Given the description of an element on the screen output the (x, y) to click on. 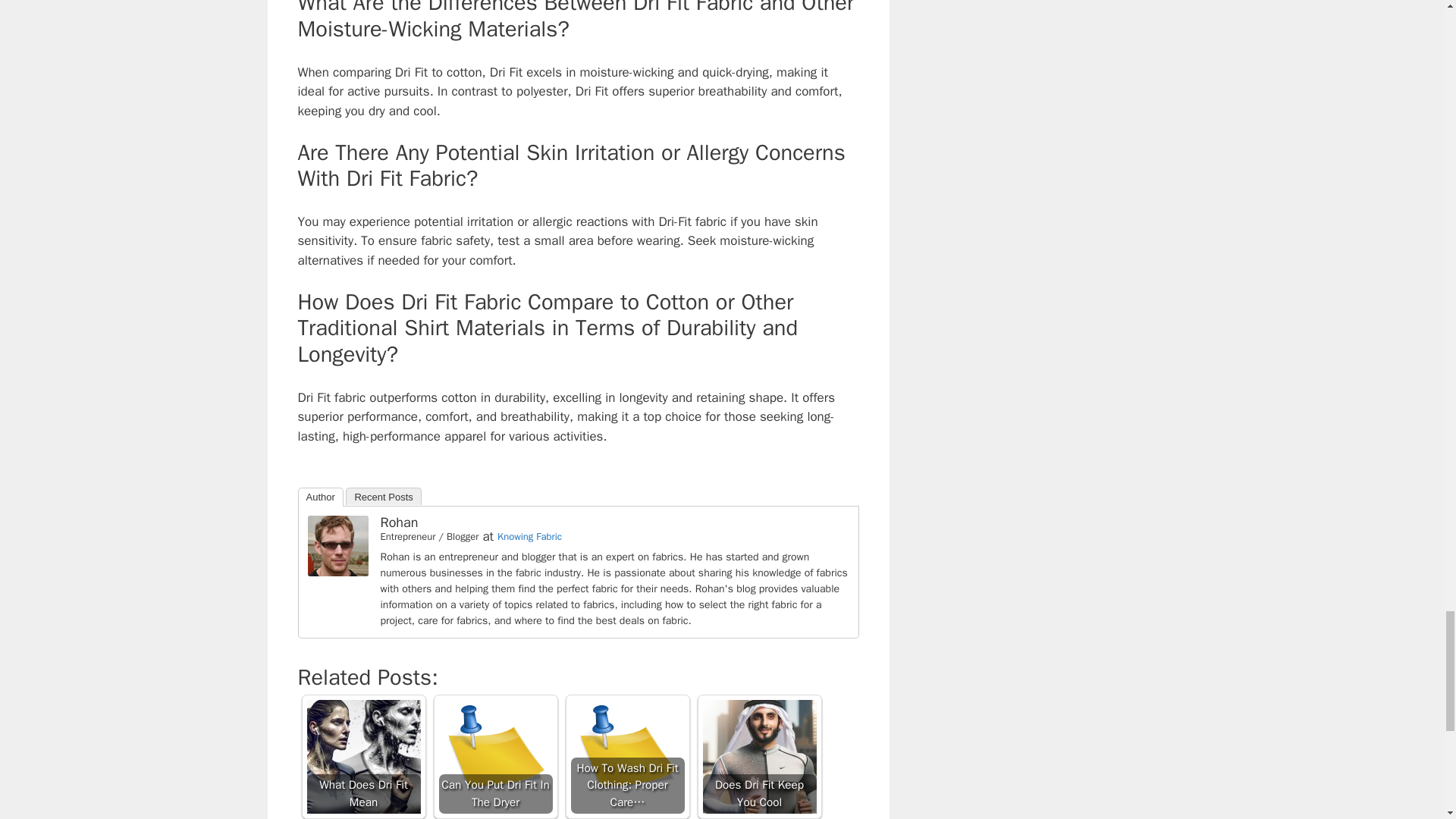
Knowing Fabric (529, 535)
Rohan (399, 522)
Author (319, 496)
Does Dri Fit Keep You Cool (758, 757)
Recent Posts (383, 496)
Can You Put Dri Fit In The Dryer (494, 757)
What Does Dri Fit Mean (362, 757)
Does Dri Fit Keep You Cool (758, 757)
Rohan (337, 571)
What Does Dri Fit Mean (362, 757)
Can You Put Dri Fit In The Dryer (494, 757)
